Given the description of an element on the screen output the (x, y) to click on. 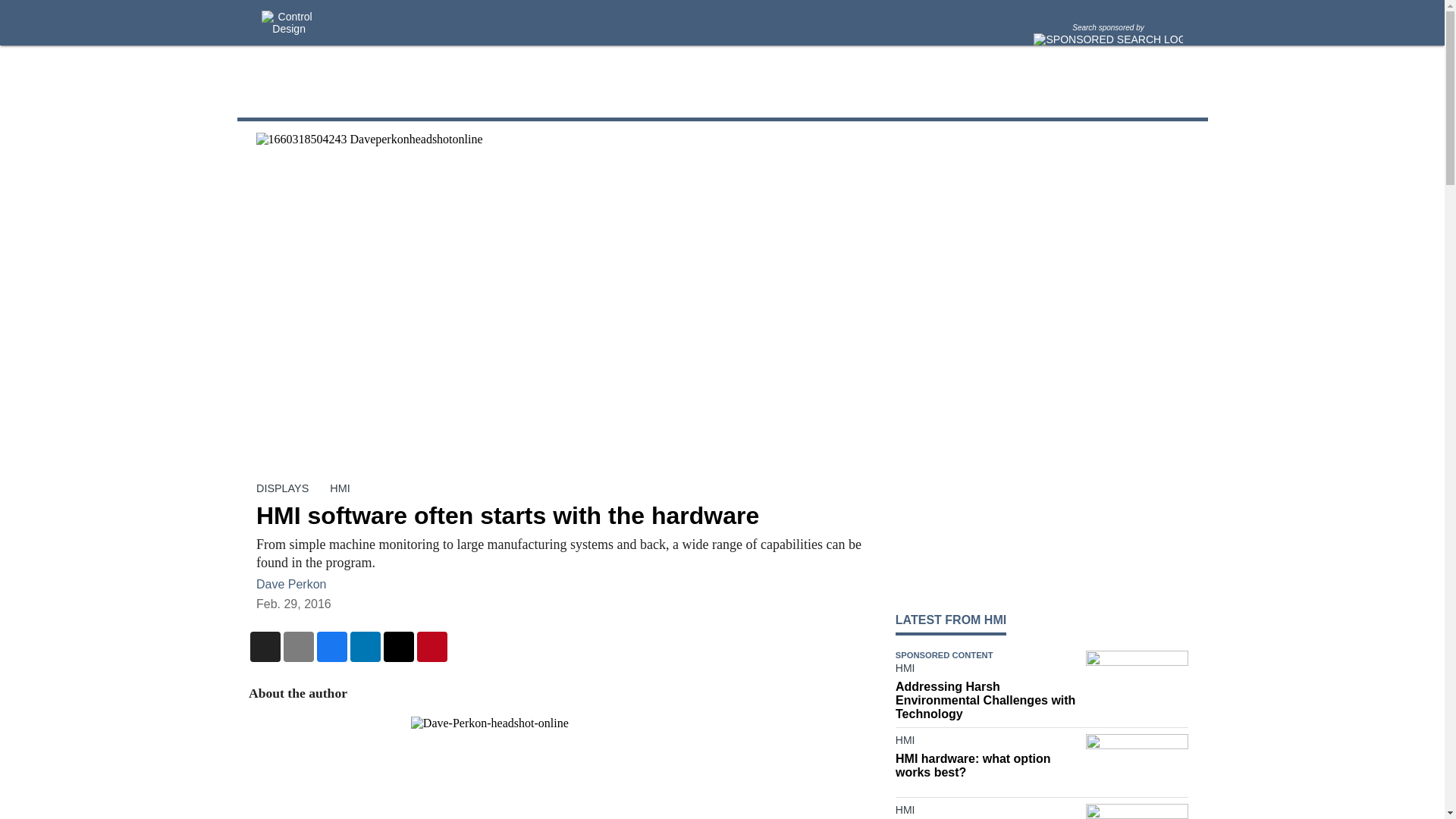
Dave-Perkon-headshot-online (560, 767)
HMI hardware: what option works best? (986, 765)
DISPLAYS (282, 488)
HMI (986, 742)
Addressing Harsh Environmental Challenges with Technology (986, 700)
Dave Perkon (291, 584)
HMI (339, 488)
HMI (986, 670)
HMI (986, 811)
